Given the description of an element on the screen output the (x, y) to click on. 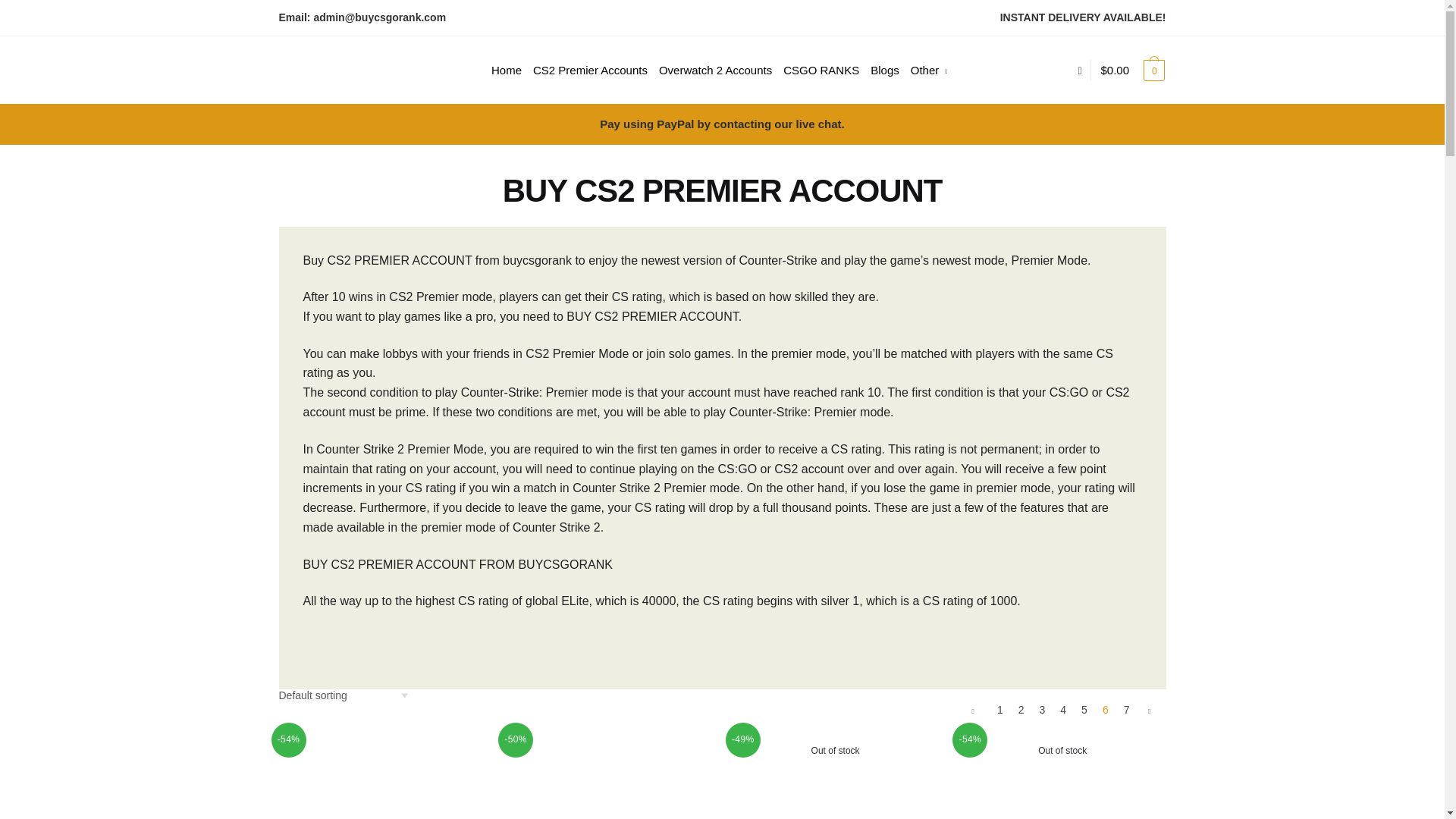
CS2 Premier Accounts (589, 70)
CSGO RANKS (821, 70)
Overwatch 2 Accounts (715, 70)
Search (470, 45)
INSTANT DELIVERY AVAILABLE! (1083, 17)
View your shopping cart (1133, 70)
